Given the description of an element on the screen output the (x, y) to click on. 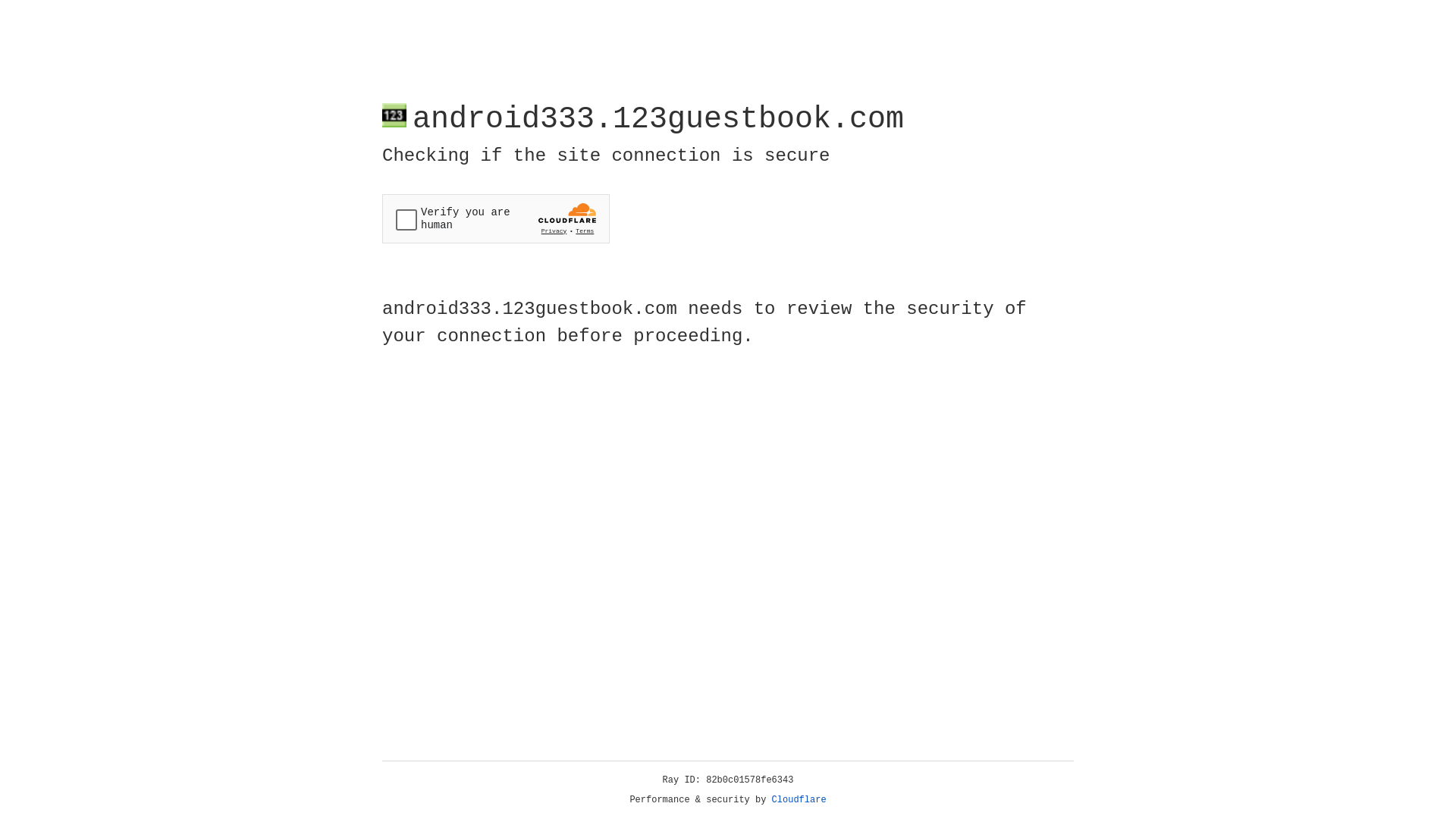
Cloudflare Element type: text (798, 799)
Widget containing a Cloudflare security challenge Element type: hover (495, 218)
